Given the description of an element on the screen output the (x, y) to click on. 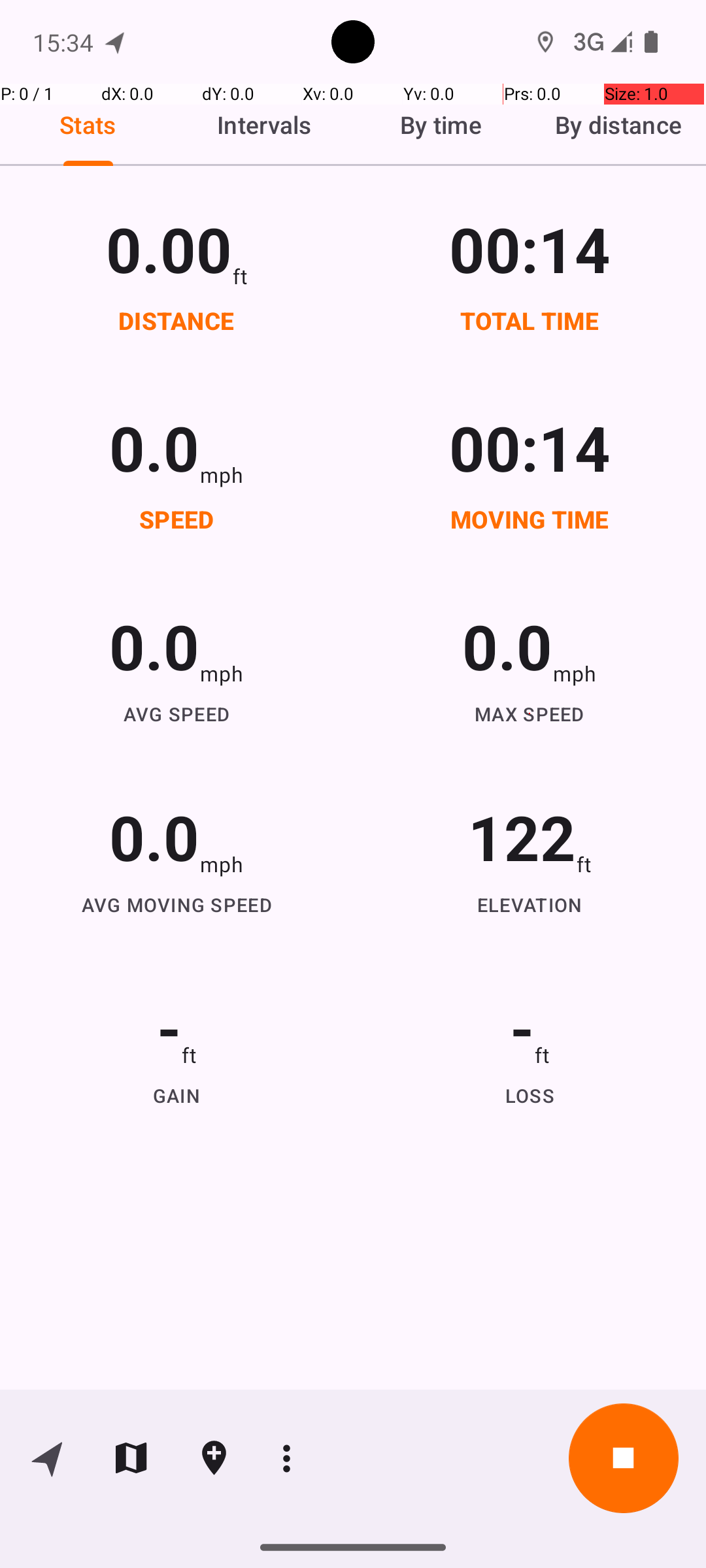
Insert marker Element type: android.widget.Button (213, 1458)
Stop Element type: android.widget.ImageButton (623, 1458)
0.00 Element type: android.widget.TextView (168, 248)
00:14 Element type: android.widget.TextView (529, 248)
0.0 Element type: android.widget.TextView (154, 446)
122 Element type: android.widget.TextView (521, 836)
- Element type: android.widget.TextView (168, 1026)
